Given the description of an element on the screen output the (x, y) to click on. 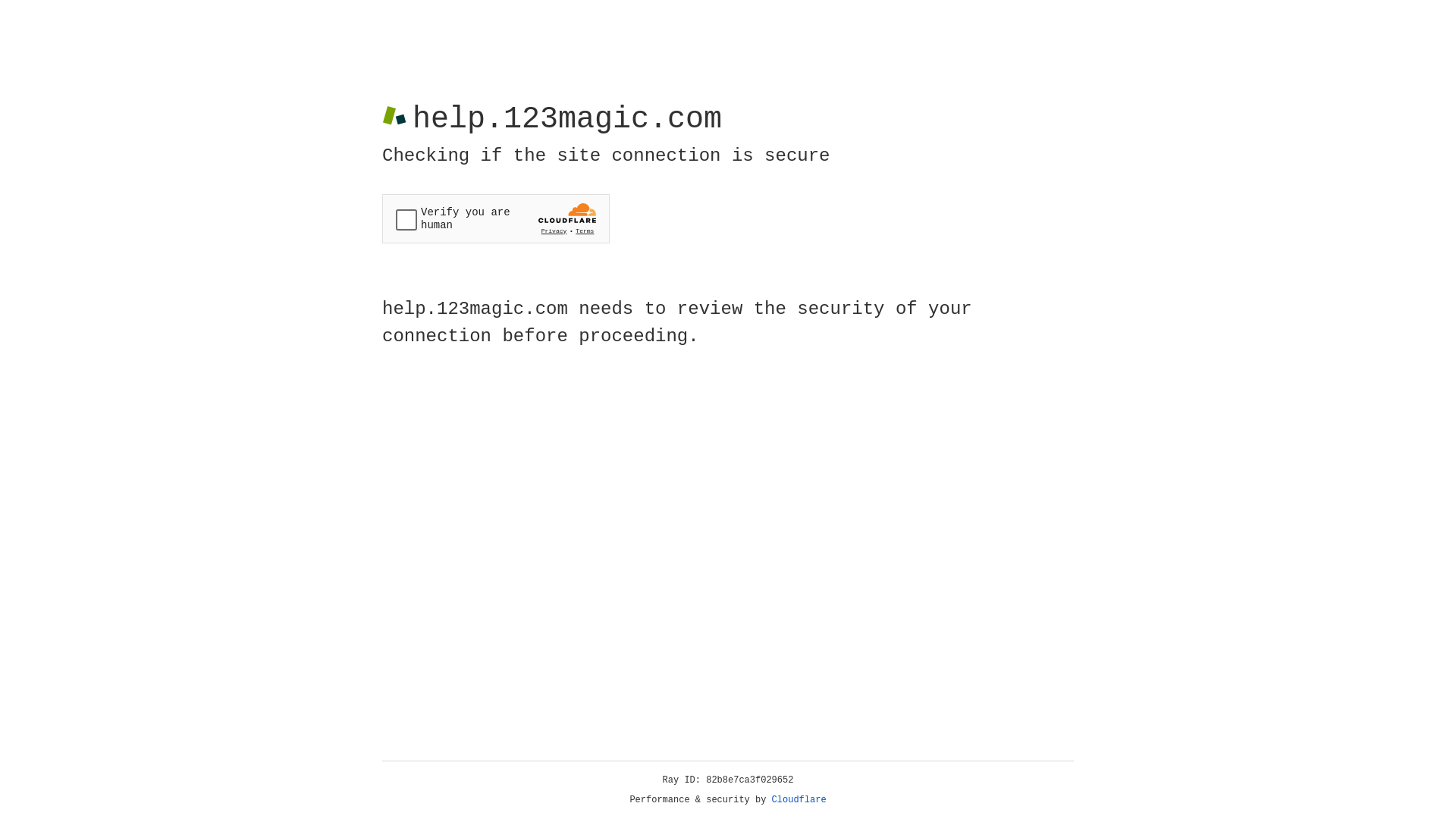
Cloudflare Element type: text (798, 799)
Widget containing a Cloudflare security challenge Element type: hover (495, 218)
